Given the description of an element on the screen output the (x, y) to click on. 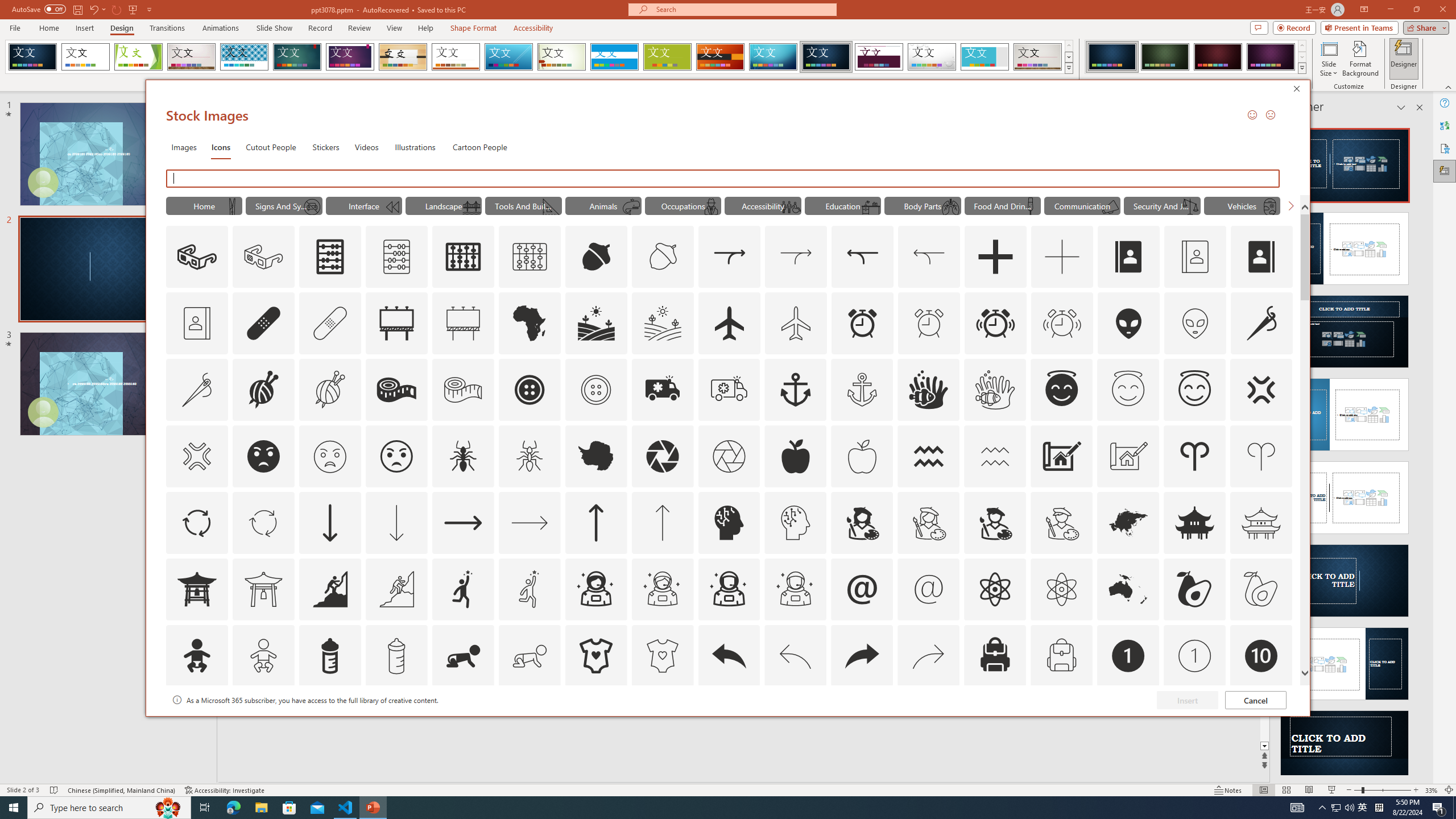
AutomationID: Icons_AlterationsTailoring3_M (595, 389)
Damask Variant 3 (1217, 56)
AutomationID: Icons_Airplane (729, 323)
AutomationID: Icons_Back_LTR_M (795, 655)
AutomationID: Icons_DetectiveMale_M (710, 206)
AutomationID: Icons_ArrowCircle (196, 522)
Send a Smile (1251, 114)
Banded (614, 56)
